Given the description of an element on the screen output the (x, y) to click on. 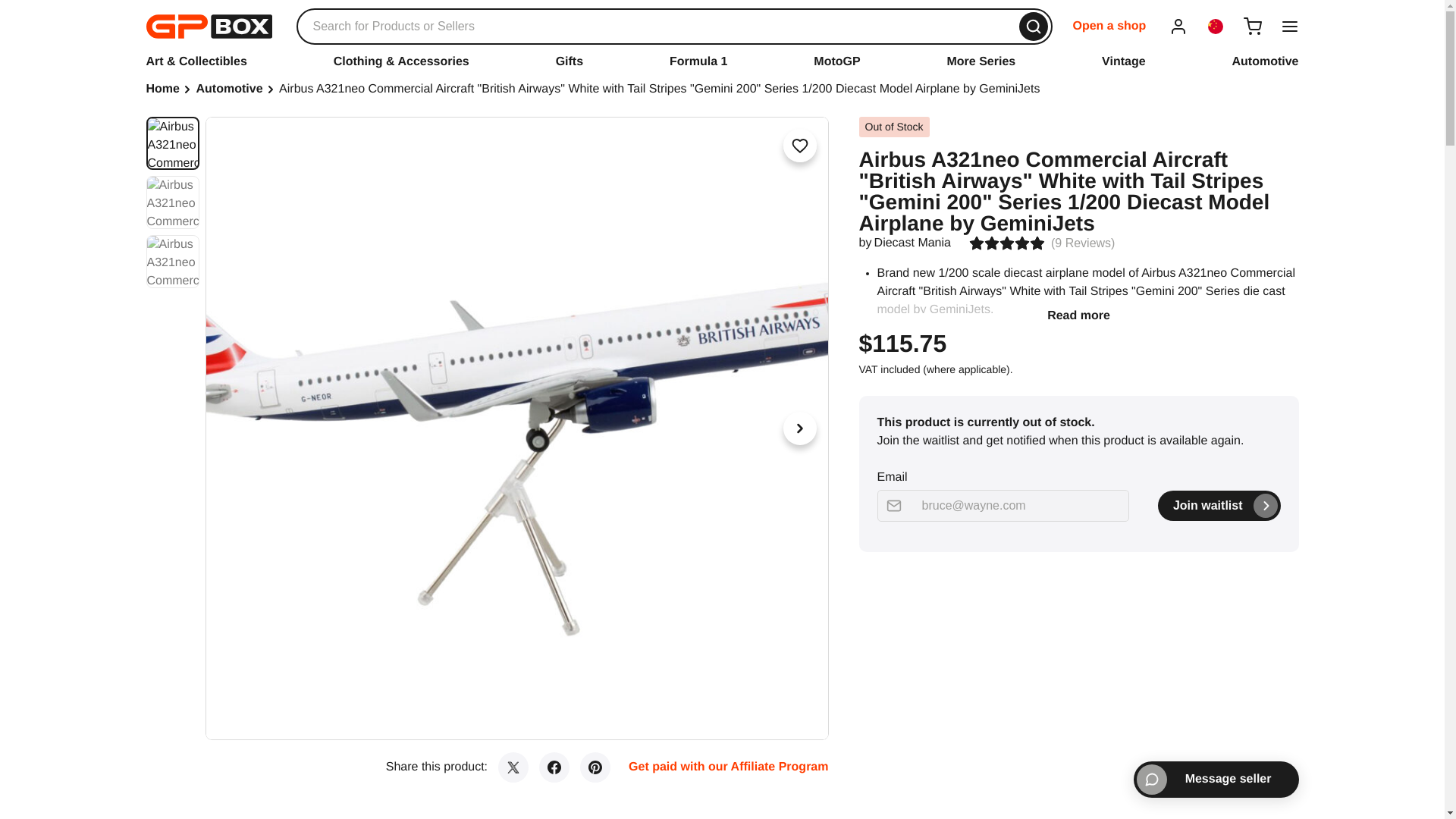
Click to see share on Pinterest (594, 767)
Search Submit (1033, 26)
MotoGP (836, 61)
Automotive (1264, 61)
Search Submit (1033, 26)
Click to see share on Twitter (512, 767)
Vintage (1123, 61)
Current Country Flag (1214, 26)
Gifts (569, 61)
GPBox (207, 26)
